Given the description of an element on the screen output the (x, y) to click on. 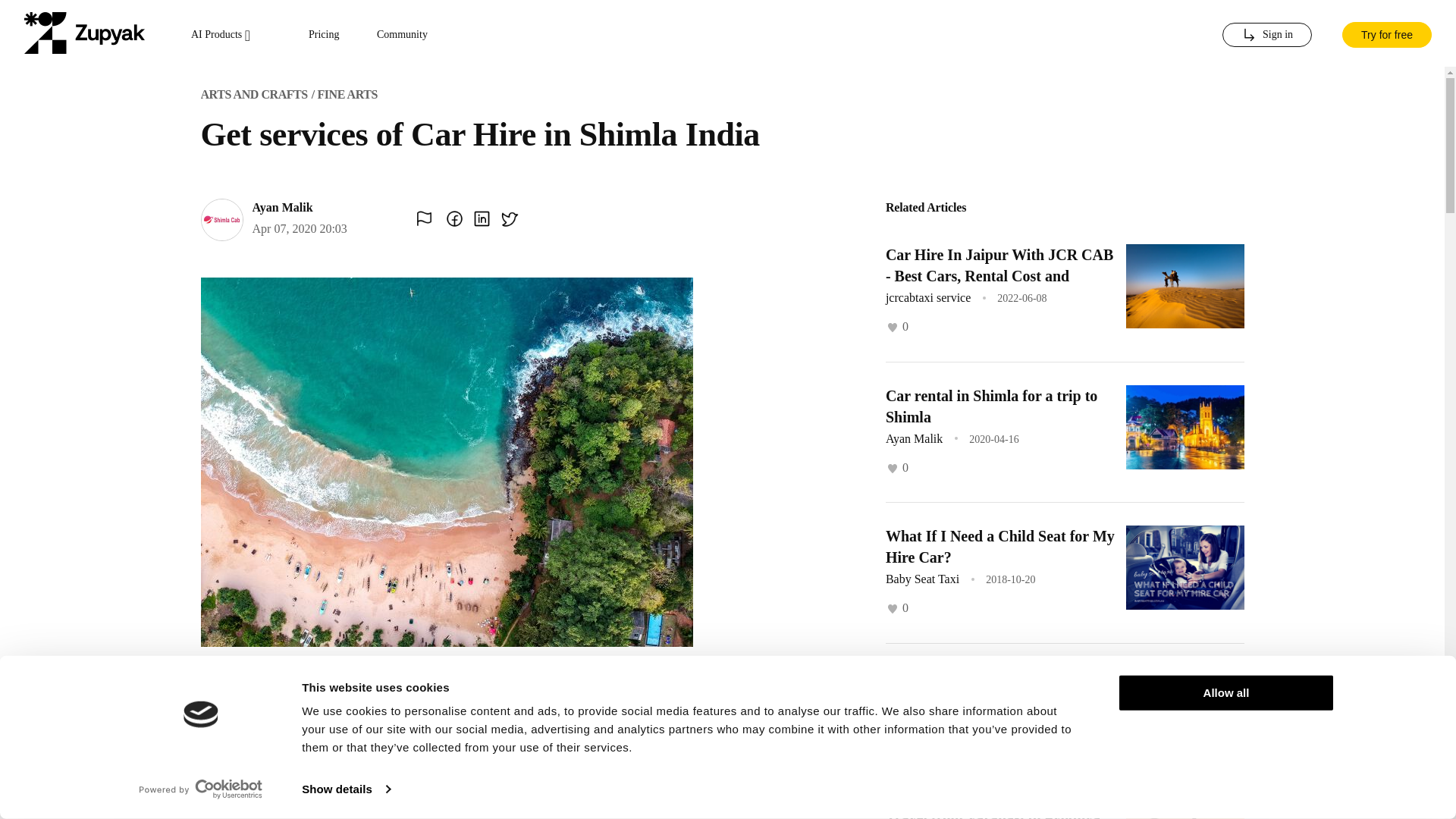
Car rental in Shimla for a trip to Shimla (991, 405)
Travel from Varanasi to Ayodhya by Chiku Cab (992, 814)
Show details (345, 789)
